Given the description of an element on the screen output the (x, y) to click on. 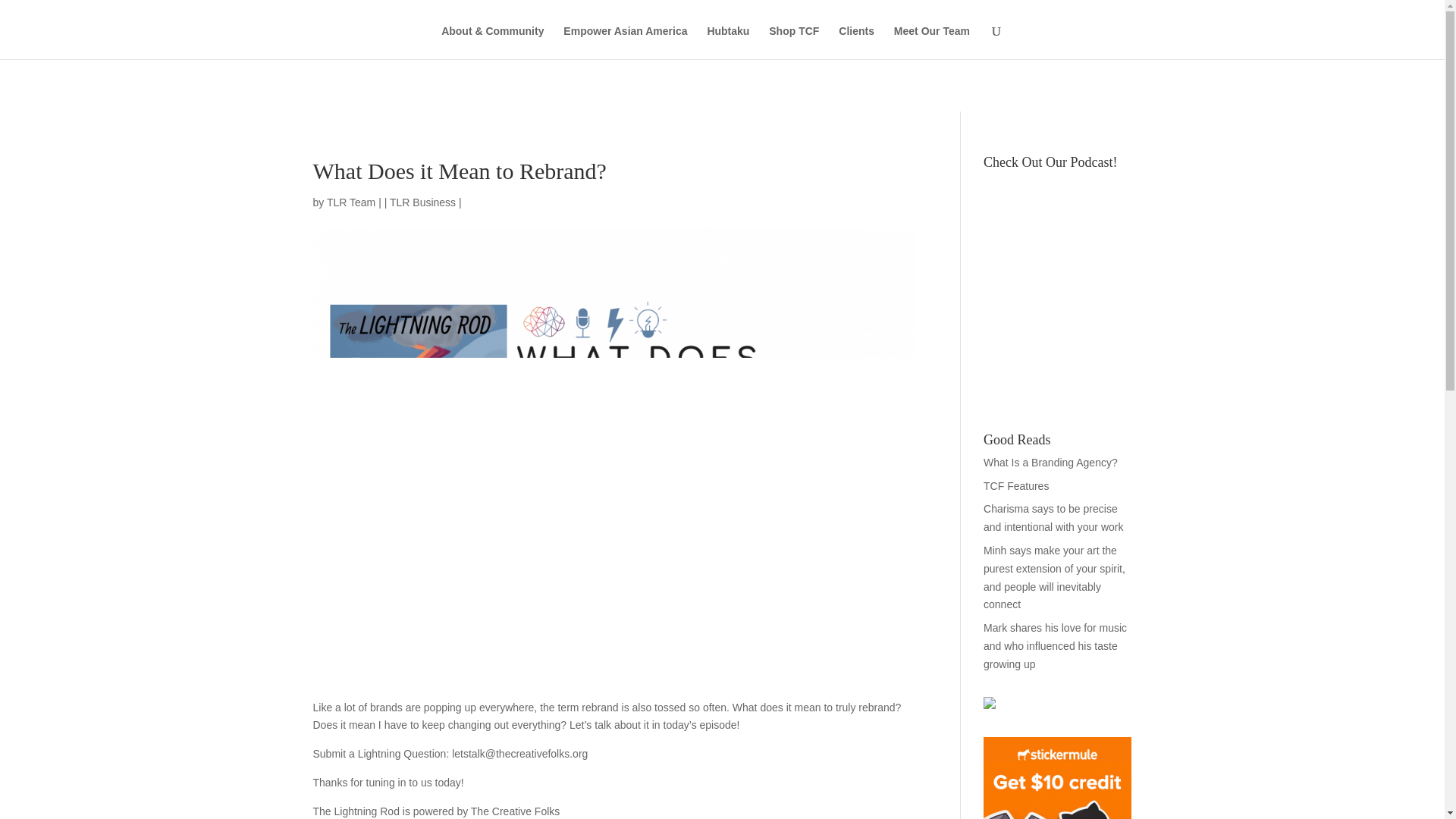
Hubtaku (727, 41)
Charisma says to be precise and intentional with your work (1053, 517)
Meet Our Team (931, 41)
TLR Team (350, 202)
TCF Features (1016, 485)
Empower Asian America (625, 41)
Clients (856, 41)
Shop TCF (793, 41)
What Is a Branding Agency? (1051, 462)
TLR Business (422, 202)
Posts by TLR Team (350, 202)
